Given the description of an element on the screen output the (x, y) to click on. 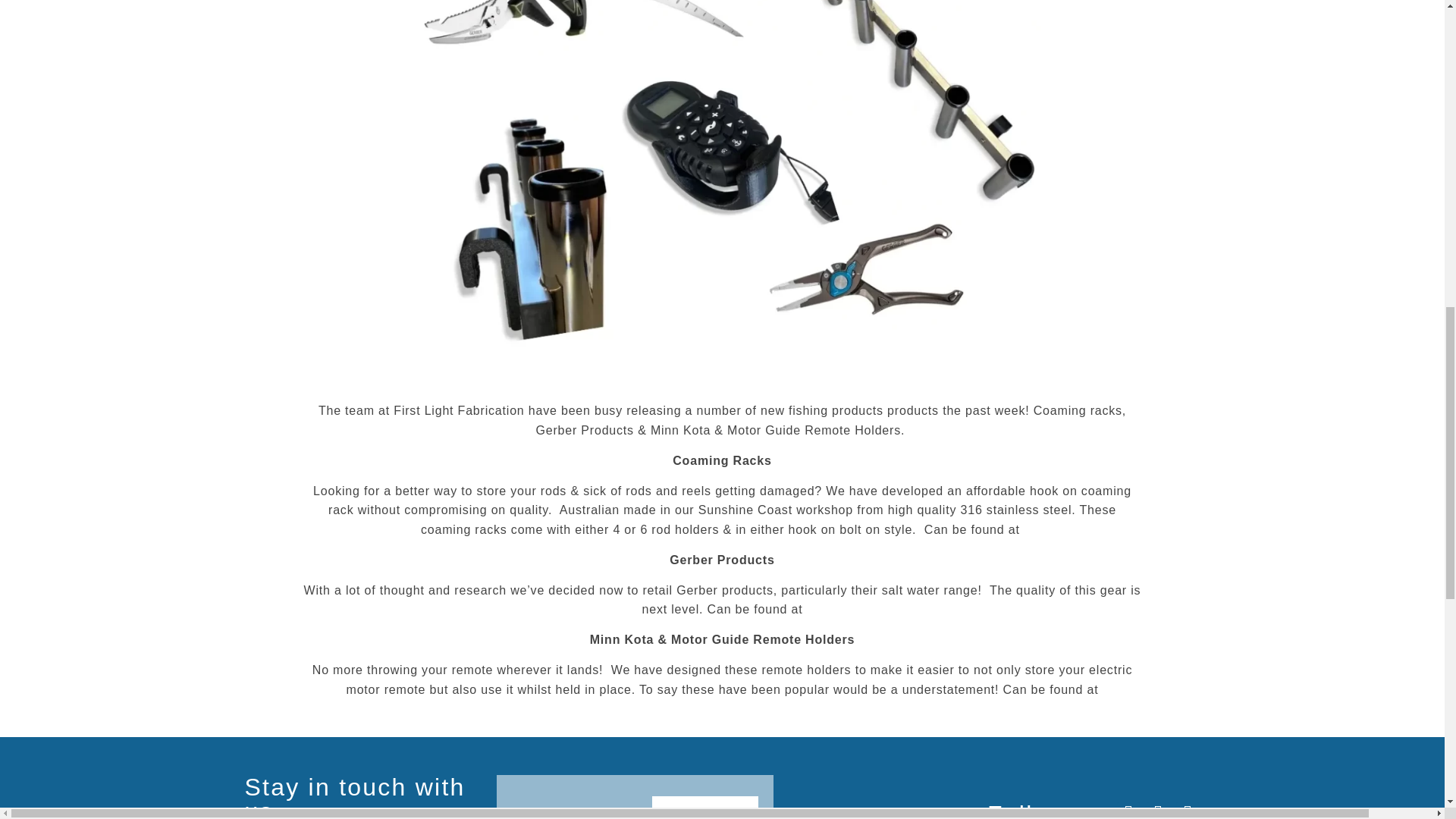
SUBSCRIBE (705, 807)
